Given the description of an element on the screen output the (x, y) to click on. 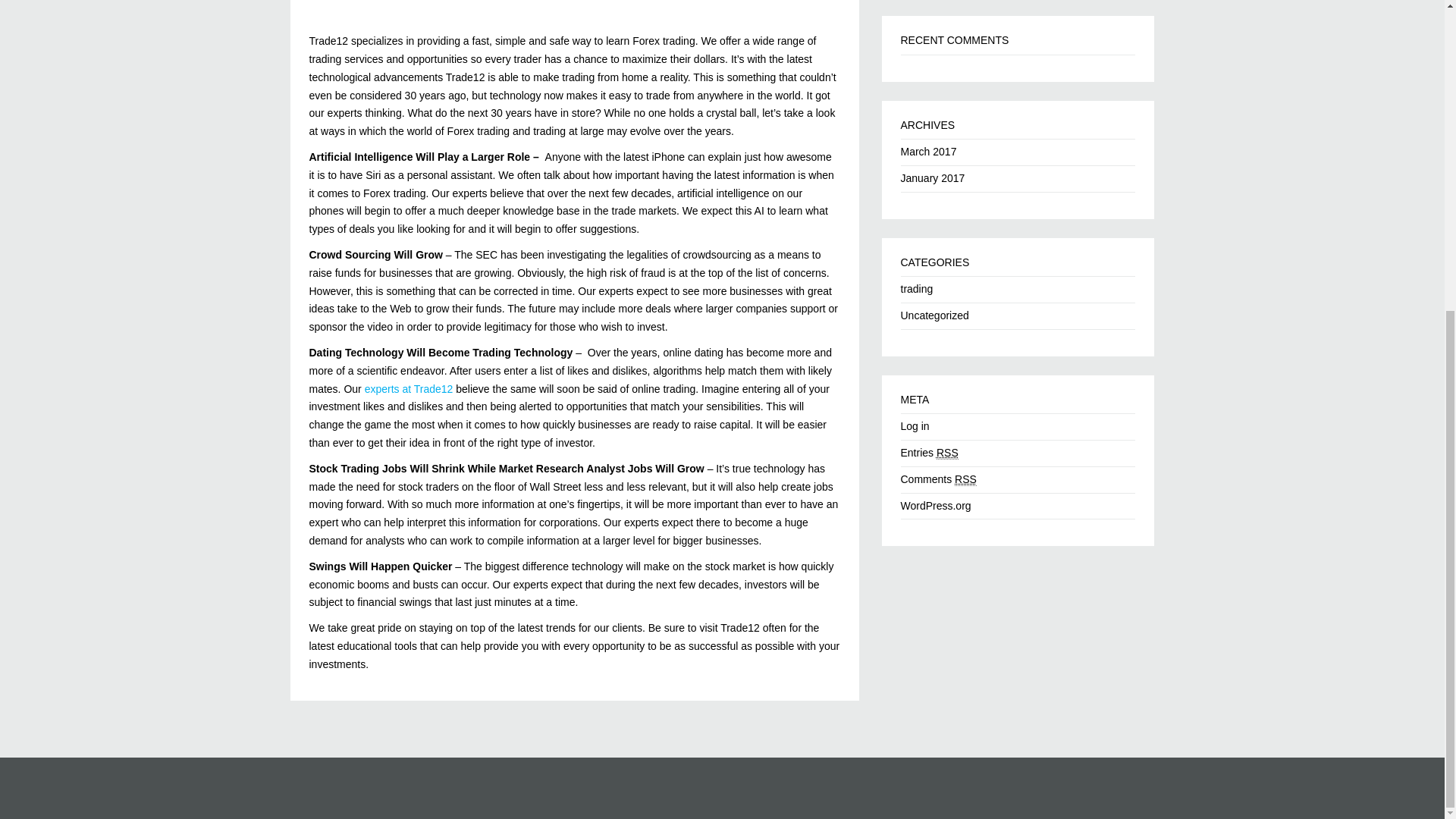
Comments RSS (938, 479)
trading (917, 288)
March 2017 (928, 151)
Really Simple Syndication (965, 479)
experts at Trade12 (408, 388)
Entries RSS (929, 452)
Really Simple Syndication (947, 452)
Log in (915, 426)
Uncategorized (935, 315)
January 2017 (933, 177)
WordPress.org (936, 505)
